Given the description of an element on the screen output the (x, y) to click on. 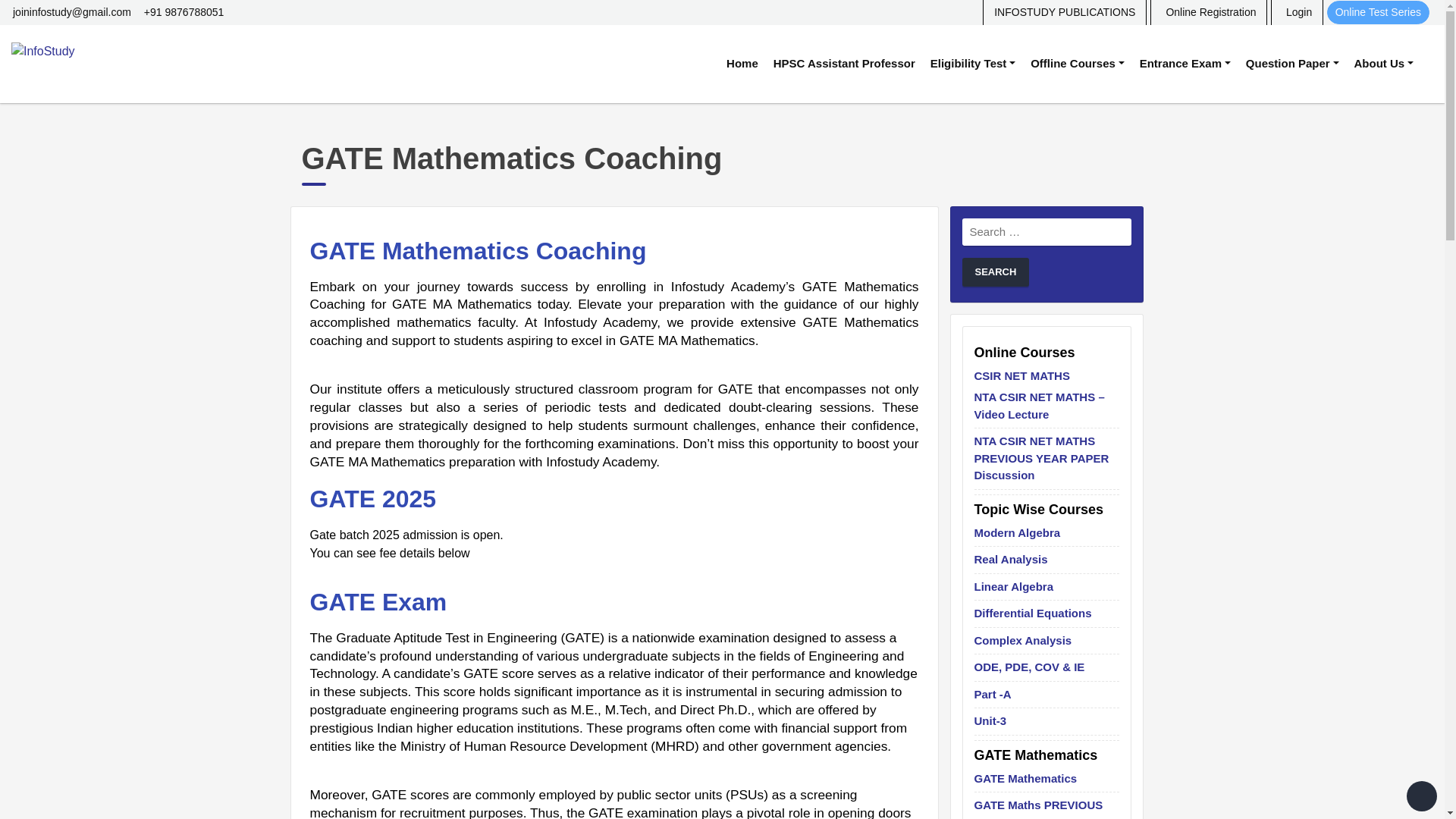
Online Registration (1208, 12)
Question Paper (1292, 63)
Online Test Series (1377, 12)
Search (994, 271)
INFOSTUDY PUBLICATIONS (1064, 12)
Login (1297, 12)
About Us (1383, 63)
Offline Courses (1077, 63)
Eligibility Test (973, 63)
Home (742, 63)
